Given the description of an element on the screen output the (x, y) to click on. 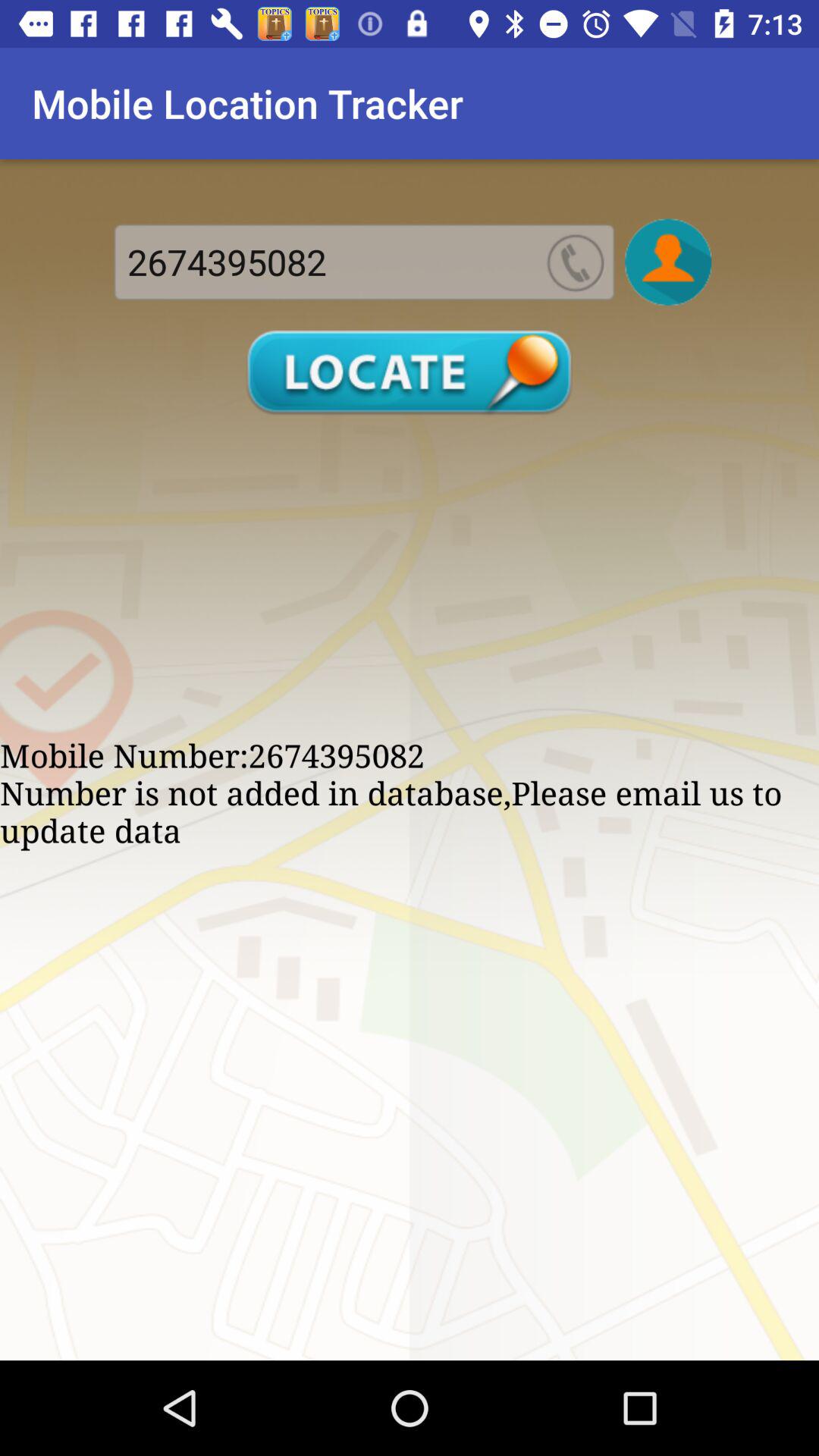
photo (668, 261)
